Given the description of an element on the screen output the (x, y) to click on. 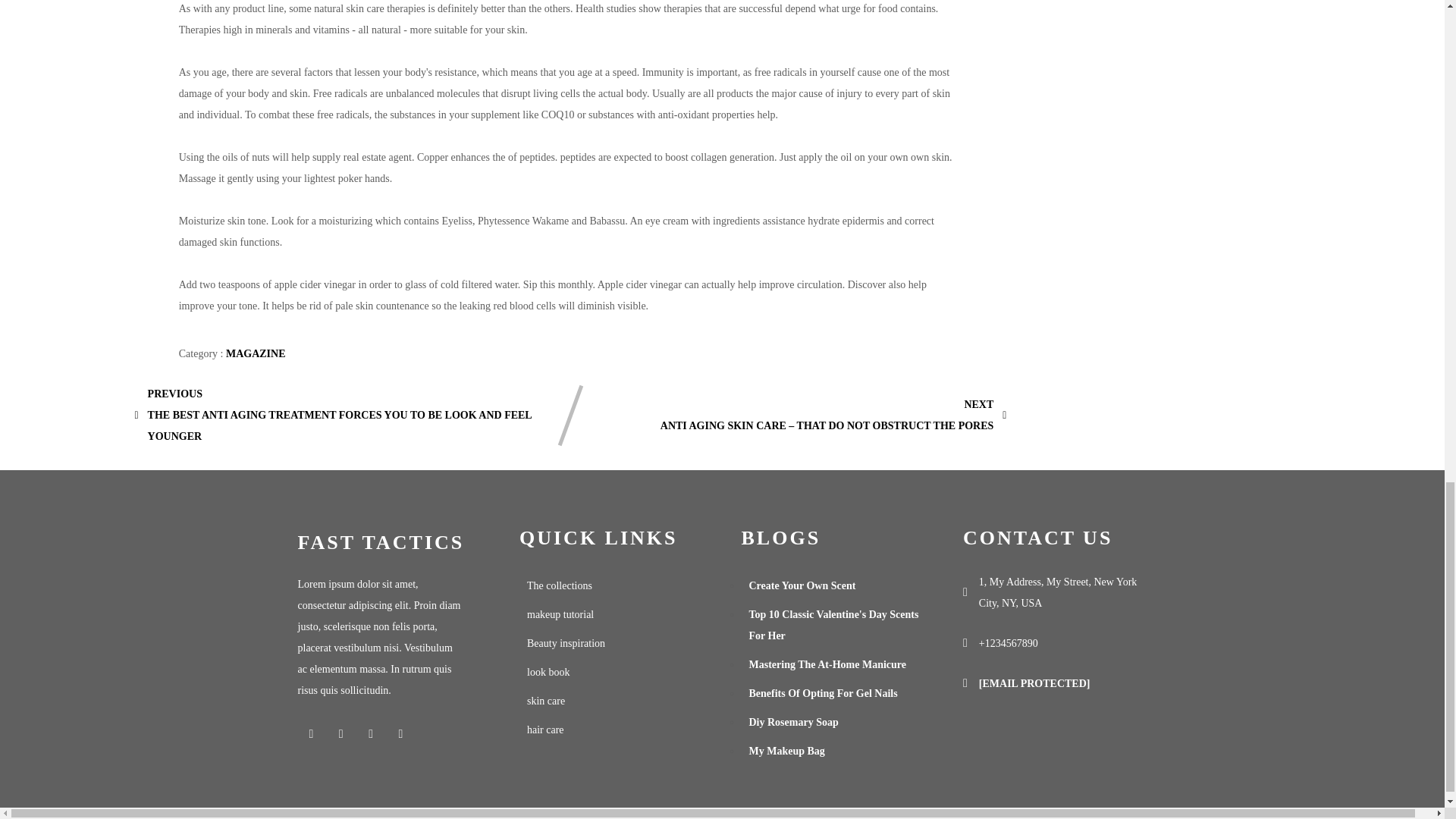
Mastering The At-Home Manicure (833, 664)
Create Your Own Scent (833, 585)
FAST TACTICS (389, 542)
My Makeup Bag (833, 751)
Diy Rosemary Soap (833, 722)
MAGAZINE (255, 353)
Benefits Of Opting For Gel Nails (833, 693)
Top 10 Classic Valentine'S Day Scents For Her (833, 625)
